Given the description of an element on the screen output the (x, y) to click on. 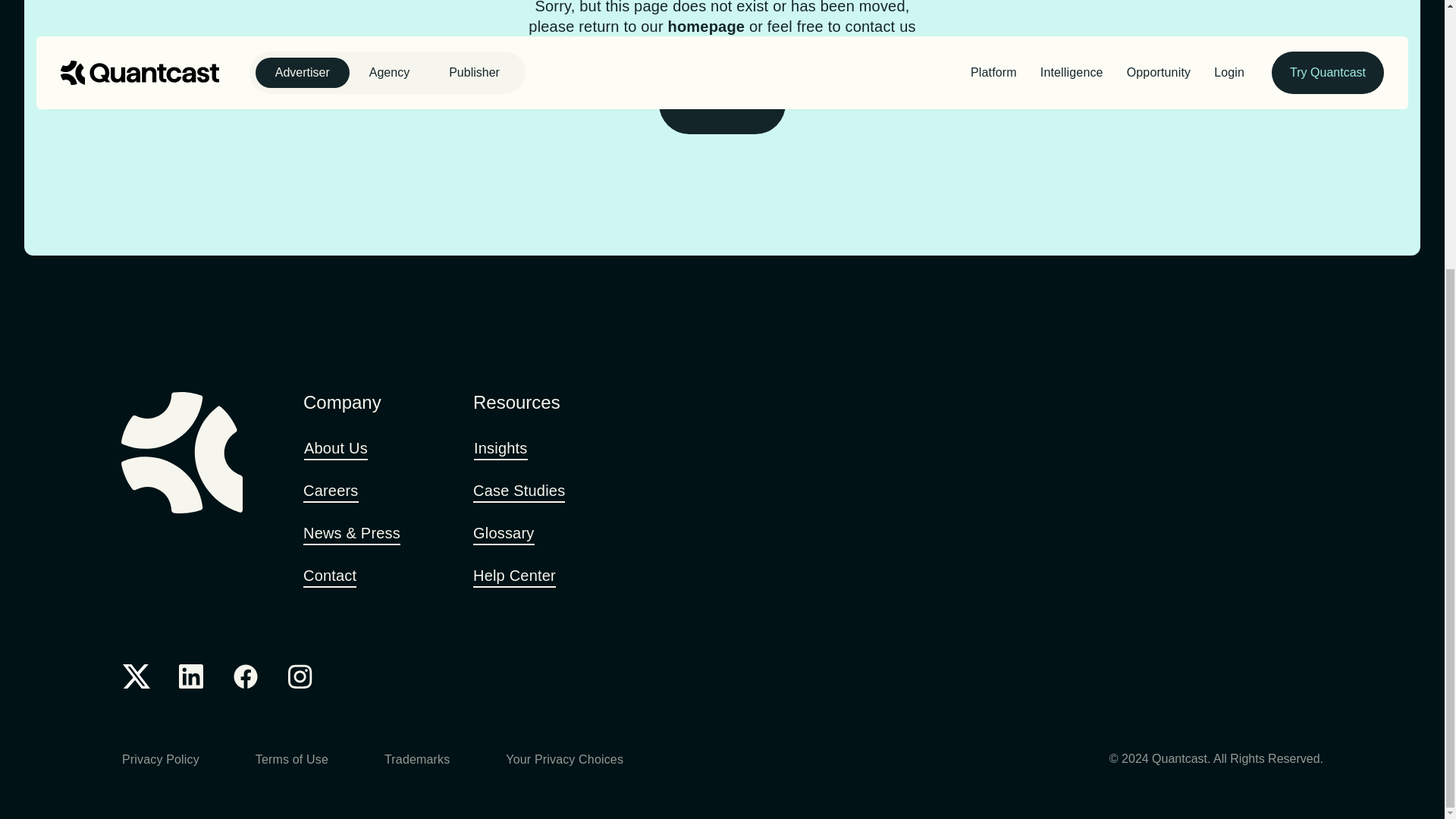
Trademarks (422, 761)
Case Studies (523, 491)
Your Privacy Choices (569, 761)
Terms of Use (297, 761)
Privacy Policy (165, 761)
Glossary (509, 533)
homepage (706, 26)
Insights (506, 448)
Help Center (519, 576)
Contact us (722, 103)
